Given the description of an element on the screen output the (x, y) to click on. 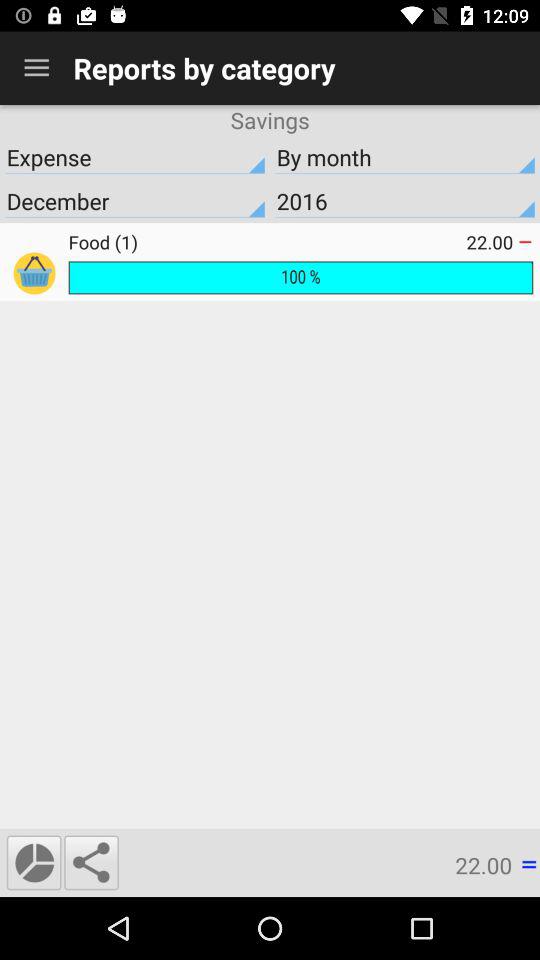
select icon below expense icon (135, 201)
